Given the description of an element on the screen output the (x, y) to click on. 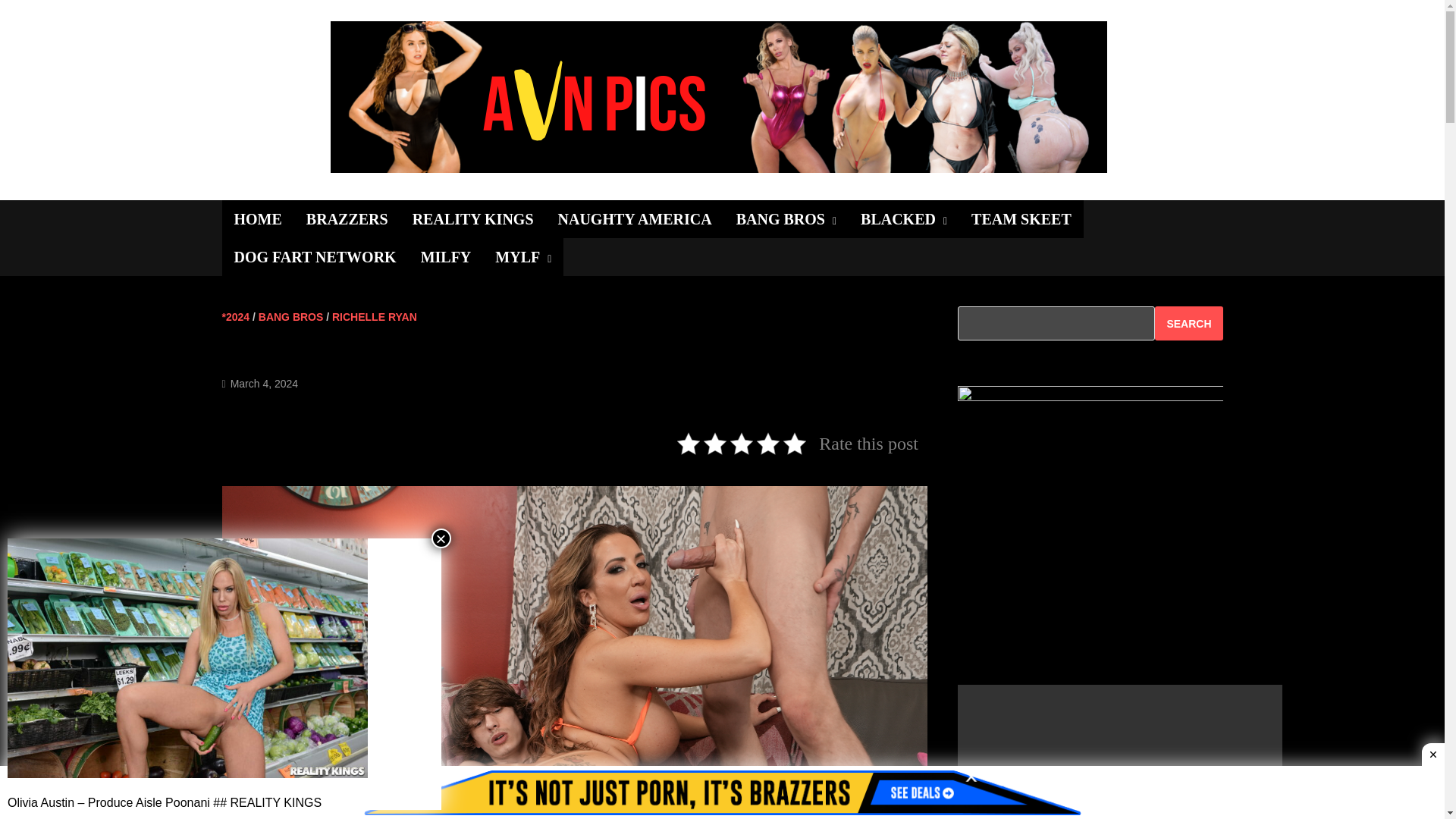
TEAM SKEET (1021, 218)
HOME (257, 218)
MYLF (523, 257)
NAUGHTY AMERICA (634, 218)
DOG FART NETWORK (314, 257)
REALITY KINGS (473, 218)
BANG BROS (785, 218)
BLACKED (903, 218)
BRAZZERS (347, 218)
MILFY (446, 257)
